Given the description of an element on the screen output the (x, y) to click on. 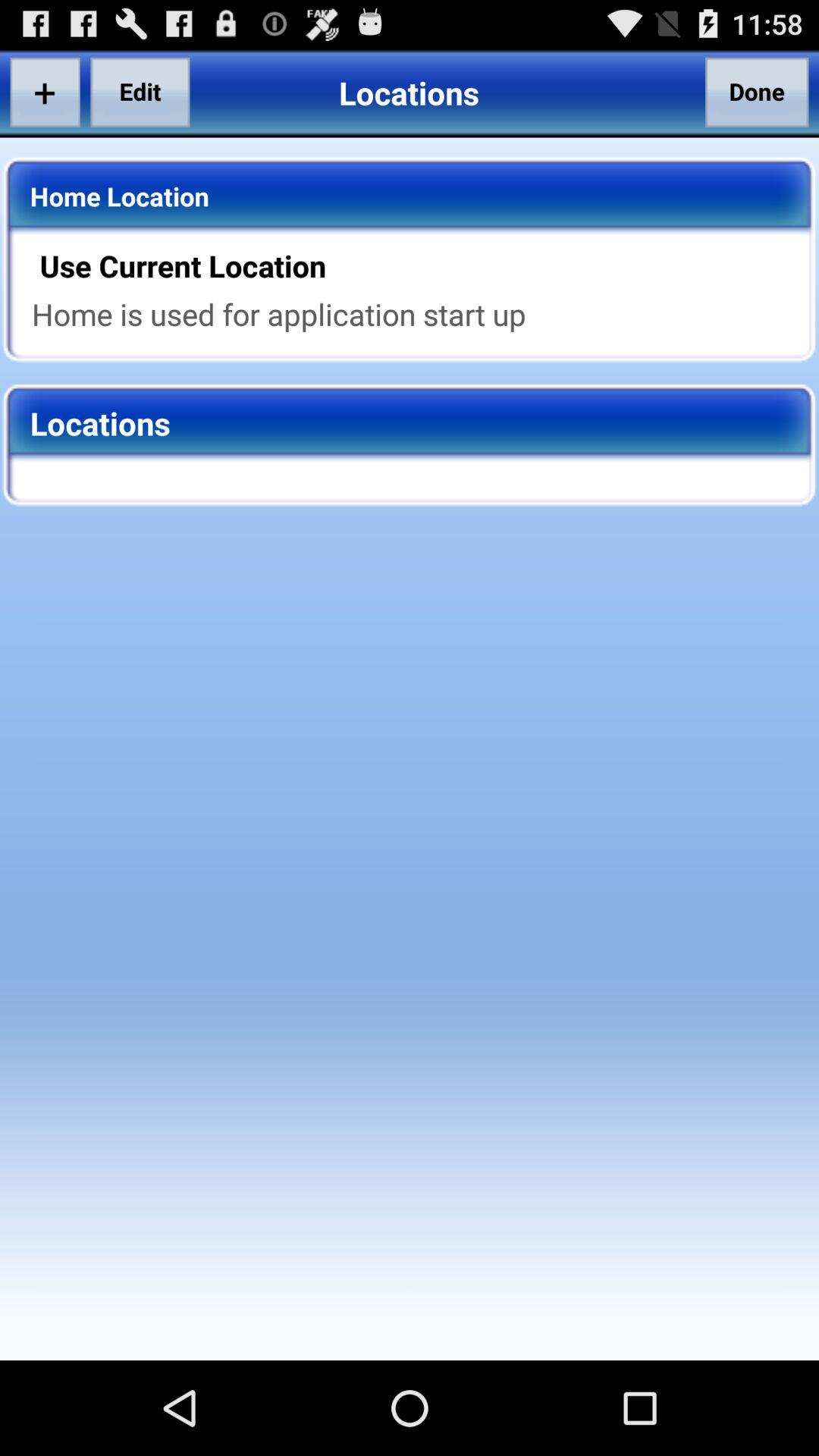
click the use current location (419, 265)
